Given the description of an element on the screen output the (x, y) to click on. 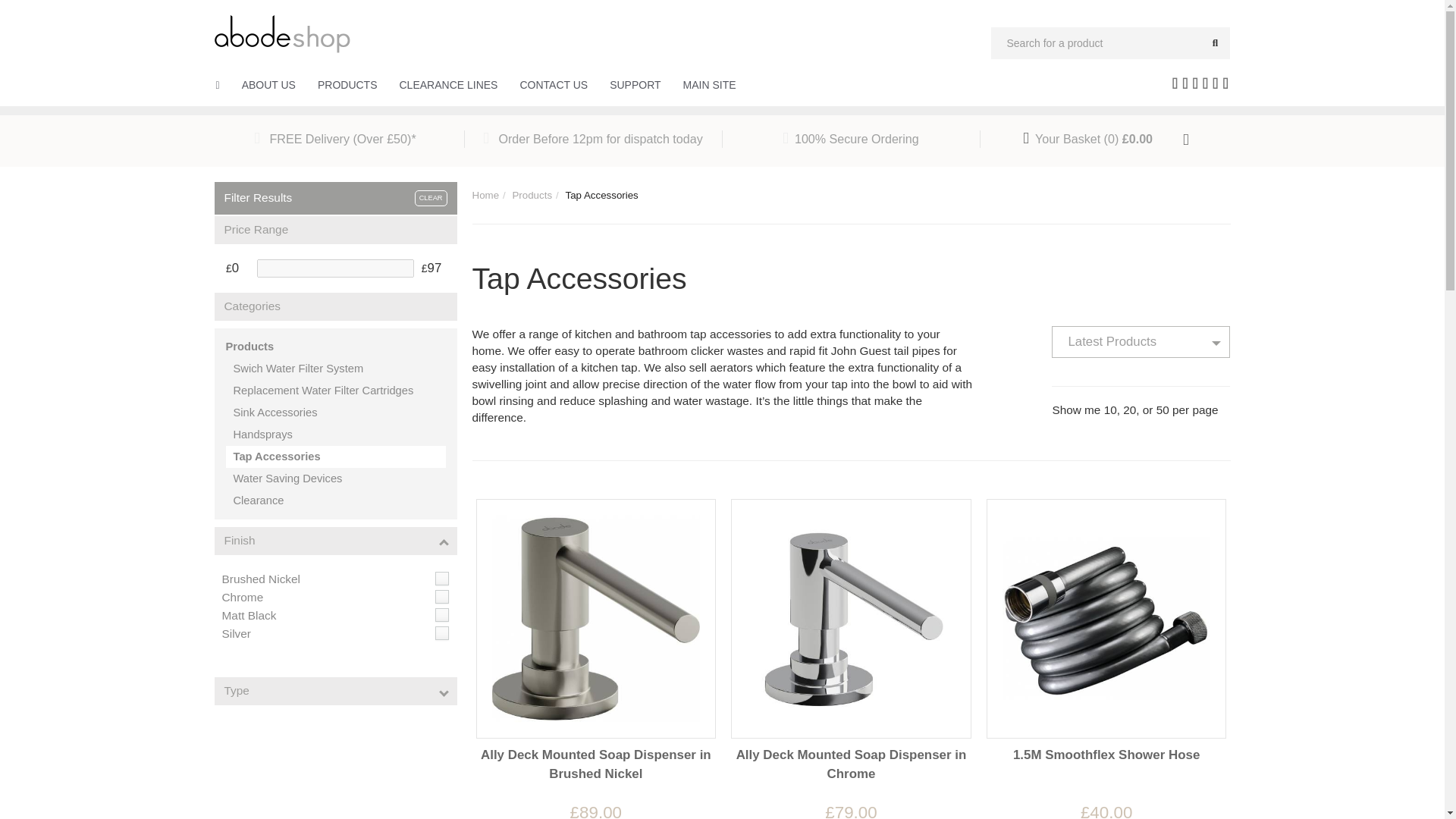
CONTACT US (553, 84)
1 (441, 596)
PRODUCTS (347, 84)
1 (441, 614)
About Us (268, 84)
ABOUT US (268, 84)
1 (441, 632)
SUPPORT (635, 84)
CLEARANCE LINES (447, 84)
1 (441, 578)
Abode Design - Beautiful Handmade Designer Taps and Sinks (282, 32)
